Given the description of an element on the screen output the (x, y) to click on. 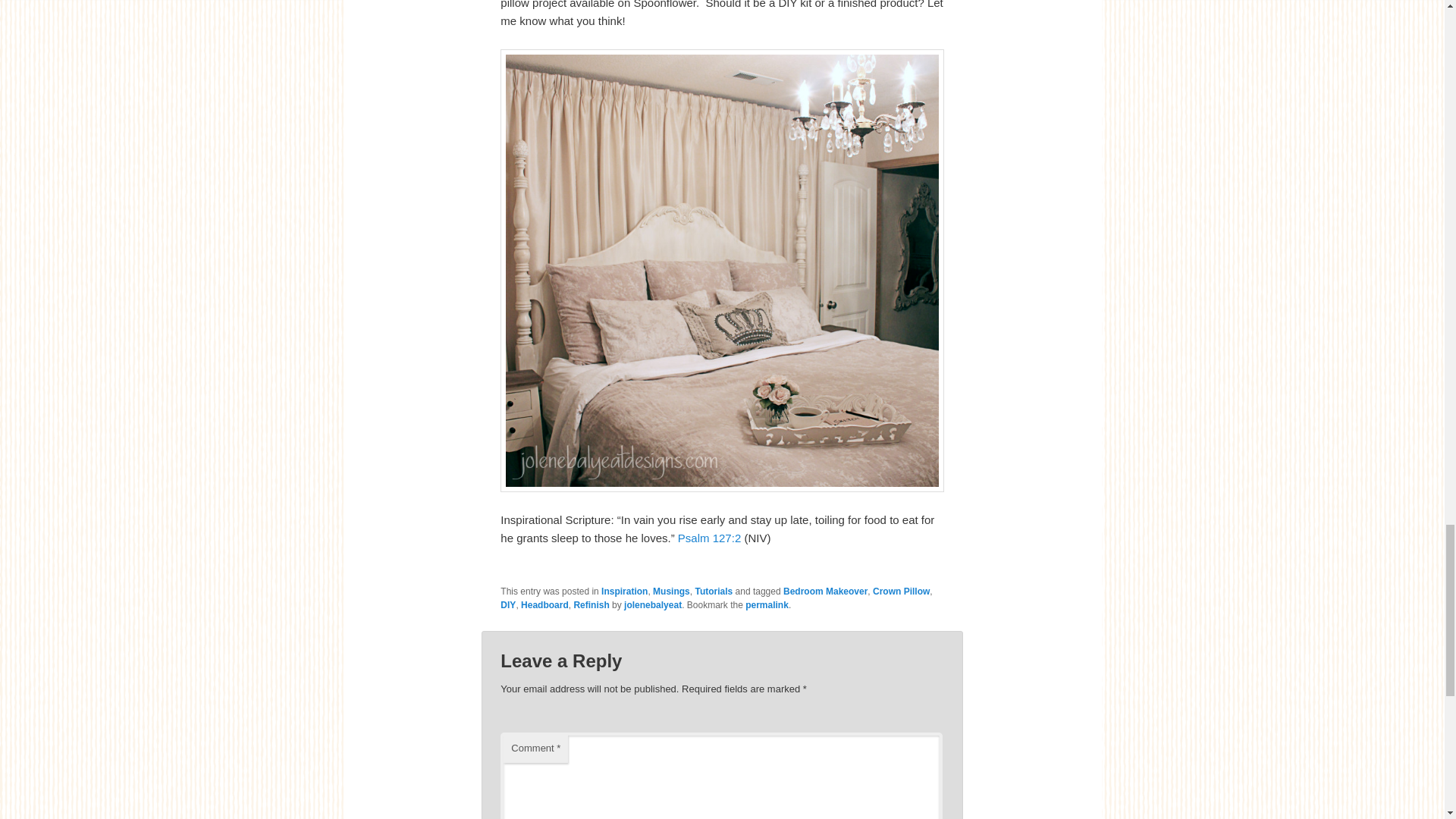
Crown Pillow (901, 591)
Tutorials (713, 591)
Refinish (590, 604)
Bedroom Makeover (825, 591)
Headboard (545, 604)
jolenebalyeat (652, 604)
permalink (767, 604)
DIY (507, 604)
Psalm 127:2 (709, 537)
Musings (671, 591)
Permalink to Sweet Dreams (767, 604)
Inspiration (624, 591)
